Given the description of an element on the screen output the (x, y) to click on. 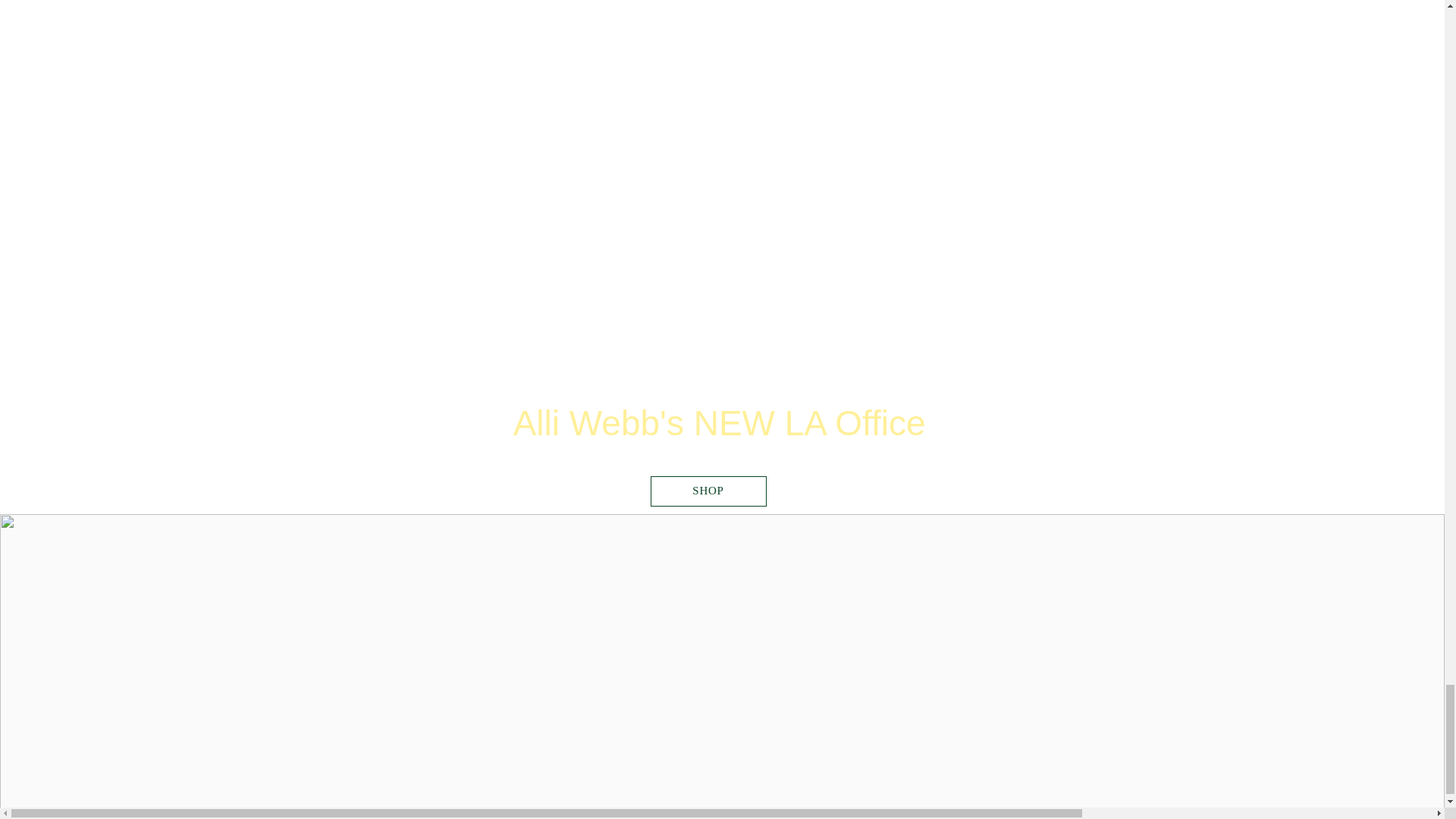
SHOP (708, 490)
